Given the description of an element on the screen output the (x, y) to click on. 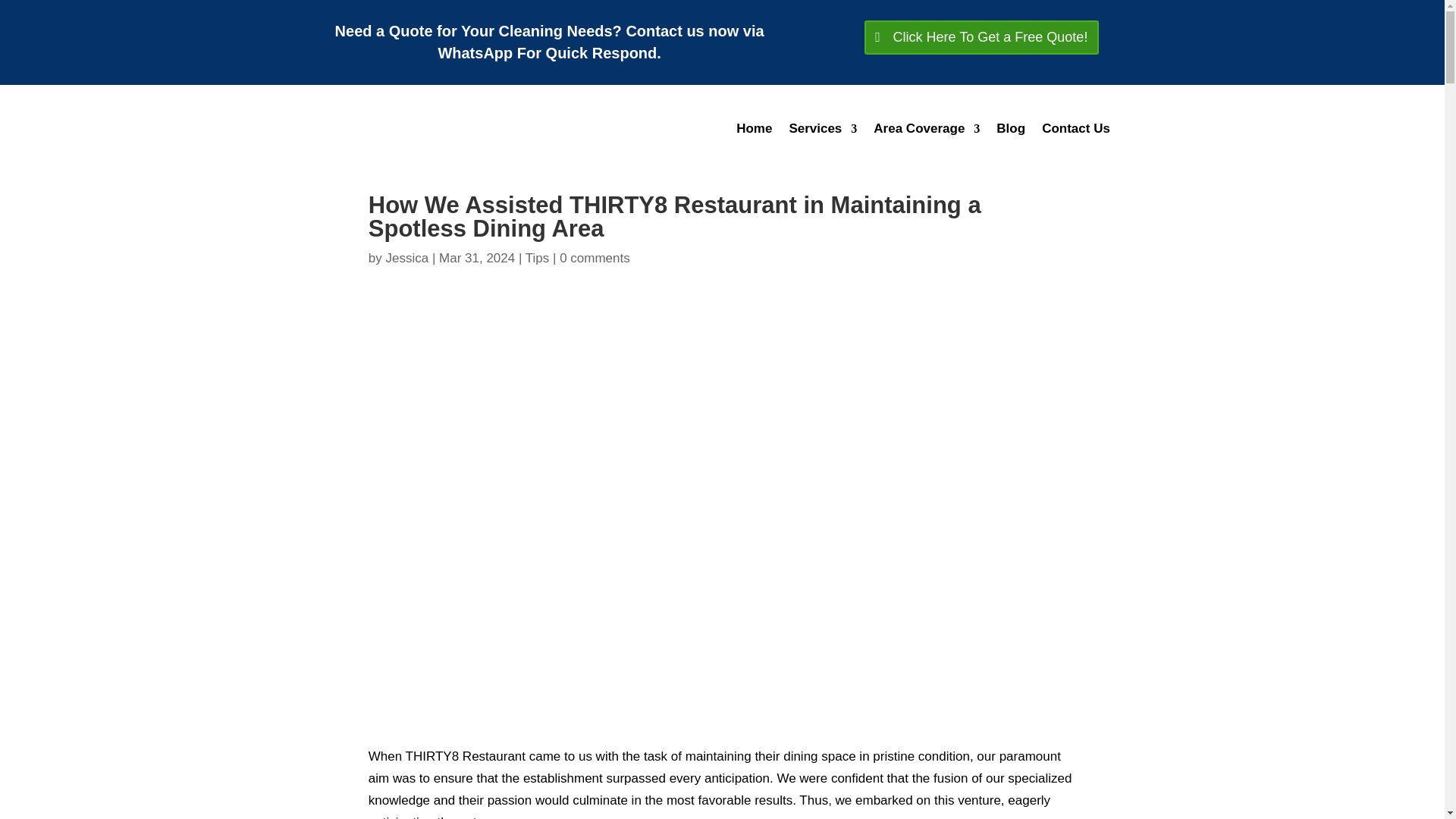
0 comments (594, 257)
Services (823, 128)
Jessica (406, 257)
Contact Us (1075, 128)
Tips (537, 257)
Posts by Jessica (406, 257)
Click Here To Get a Free Quote! (981, 37)
Area Coverage (926, 128)
